Given the description of an element on the screen output the (x, y) to click on. 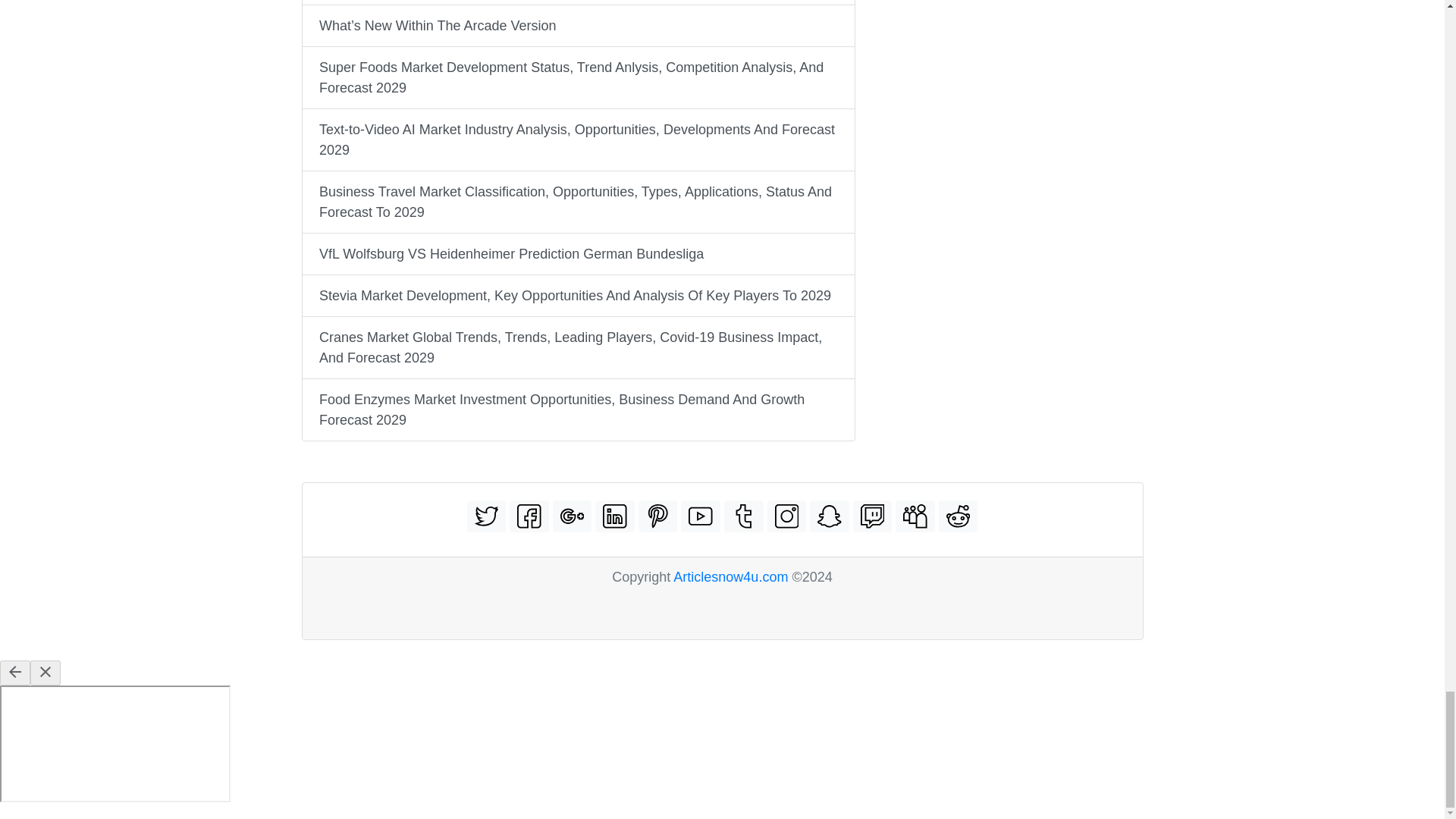
VfL Wolfsburg VS Heidenheimer Prediction German Bundesliga (577, 253)
